Given the description of an element on the screen output the (x, y) to click on. 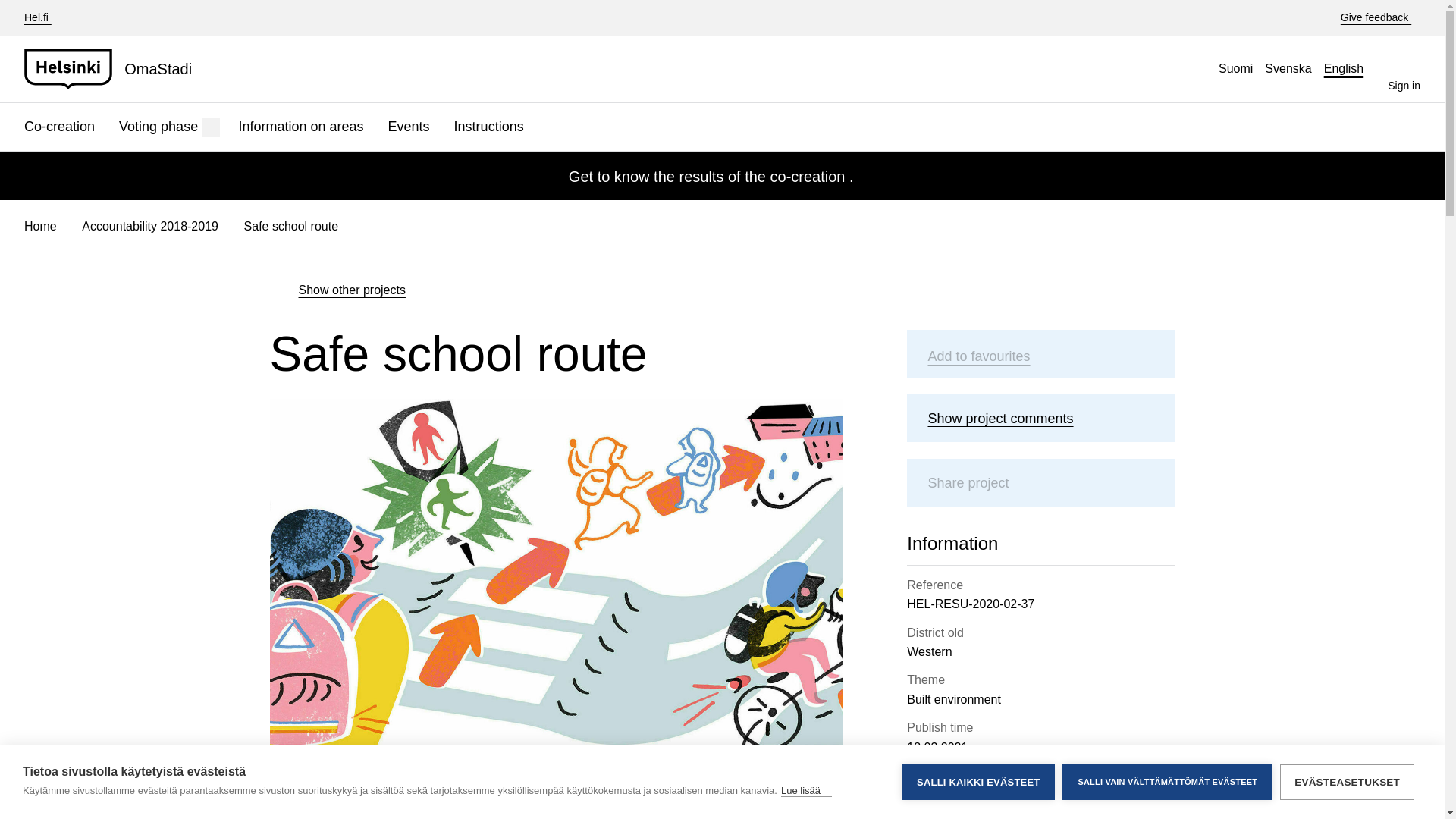
Show other projects (337, 289)
Show project comments (1015, 418)
Sign in to add as favourite (994, 352)
Co-creation (58, 126)
Get to know the results of the co-creation . (721, 176)
Home (40, 226)
Svenska (1288, 68)
Add to favourites (994, 352)
English (1343, 68)
Suomi (1235, 68)
Accountability 2018-2019 (149, 226)
Instructions (488, 126)
OmaStadi (113, 68)
Information on areas (300, 126)
Events (408, 126)
